Given the description of an element on the screen output the (x, y) to click on. 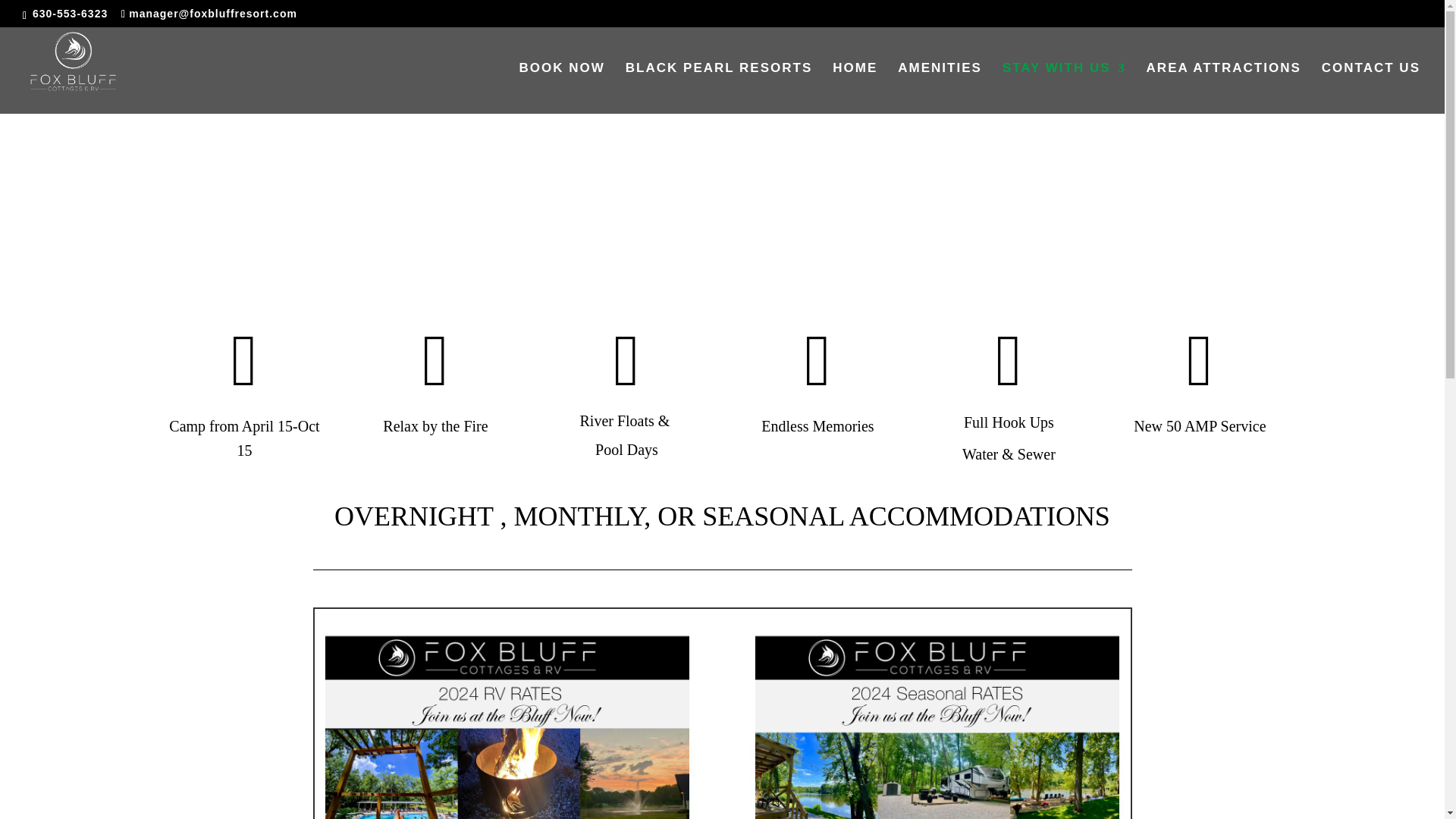
BLACK PEARL RESORTS (719, 88)
CONTACT US (1371, 88)
AREA ATTRACTIONS (1224, 88)
STAY WITH US (1064, 88)
BOOK NOW (562, 88)
Seasonal Rates 2024-1 (936, 724)
AMENITIES (939, 88)
Transient Rates 2024-1 (506, 724)
